Given the description of an element on the screen output the (x, y) to click on. 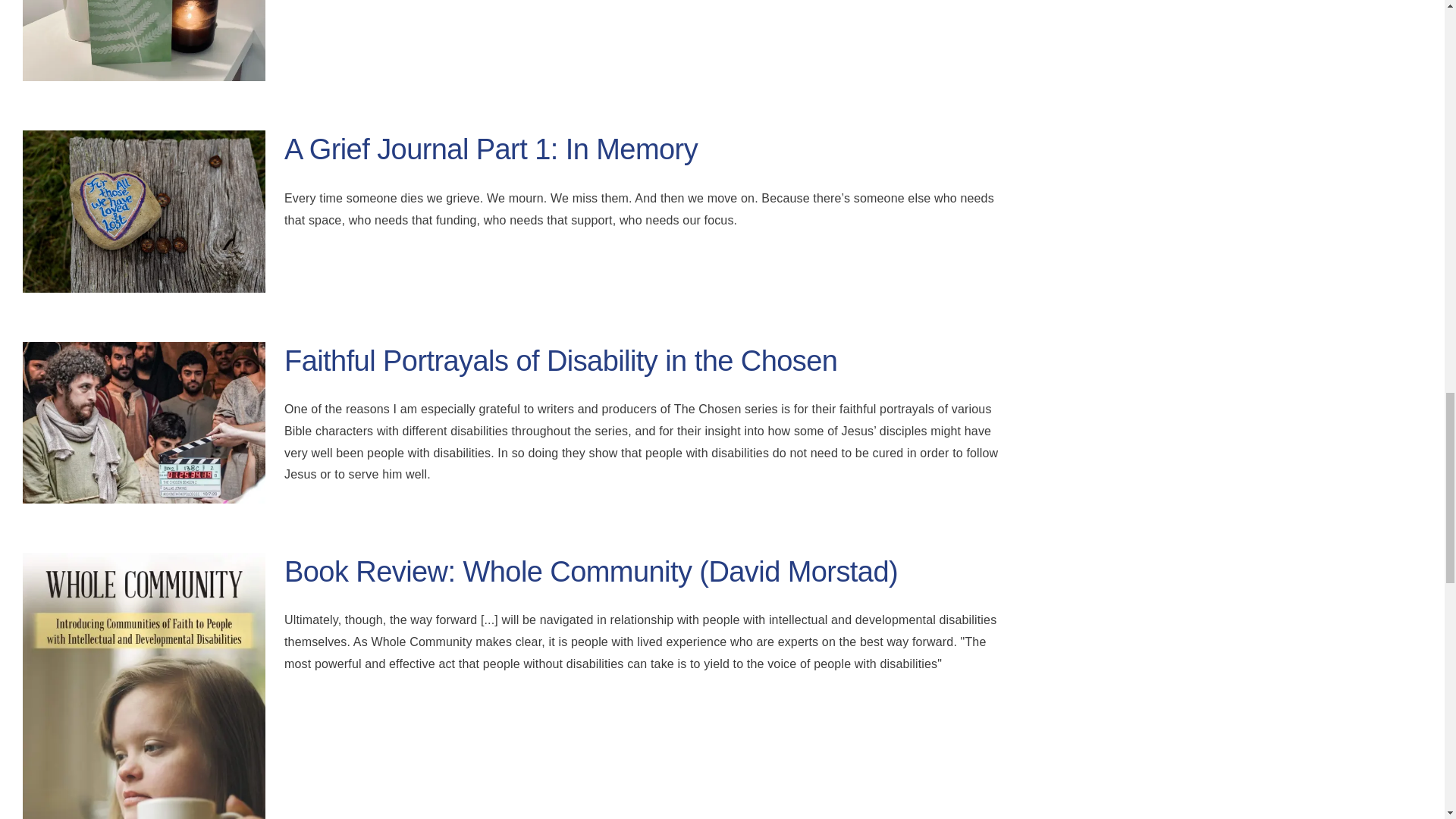
Faithful Portrayals of Disability in the Chosen (560, 360)
A Grief Journal Part 1: In Memory (490, 149)
